Given the description of an element on the screen output the (x, y) to click on. 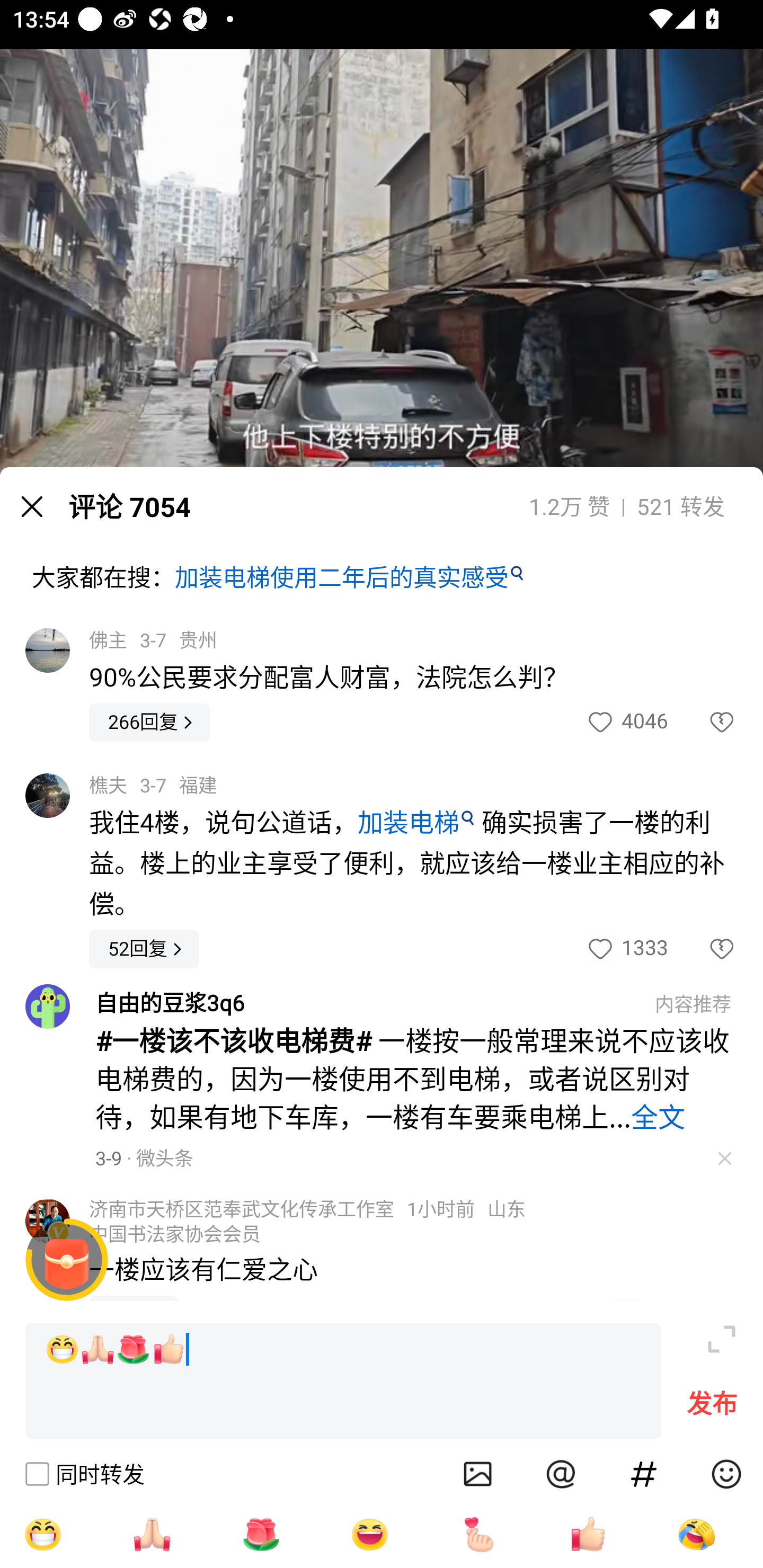
[呲牙][祈祷][玫瑰][赞] (343, 1381)
全屏编辑 (721, 1338)
发布 (711, 1407)
同时转发 (83, 1473)
相册 (478, 1473)
at (560, 1473)
话题 (643, 1473)
表情 (726, 1473)
[呲牙] (42, 1534)
[祈祷] (152, 1534)
[玫瑰] (261, 1534)
[大笑] (369, 1534)
[比心] (478, 1534)
[赞] (588, 1534)
[捂脸] (696, 1534)
